Given the description of an element on the screen output the (x, y) to click on. 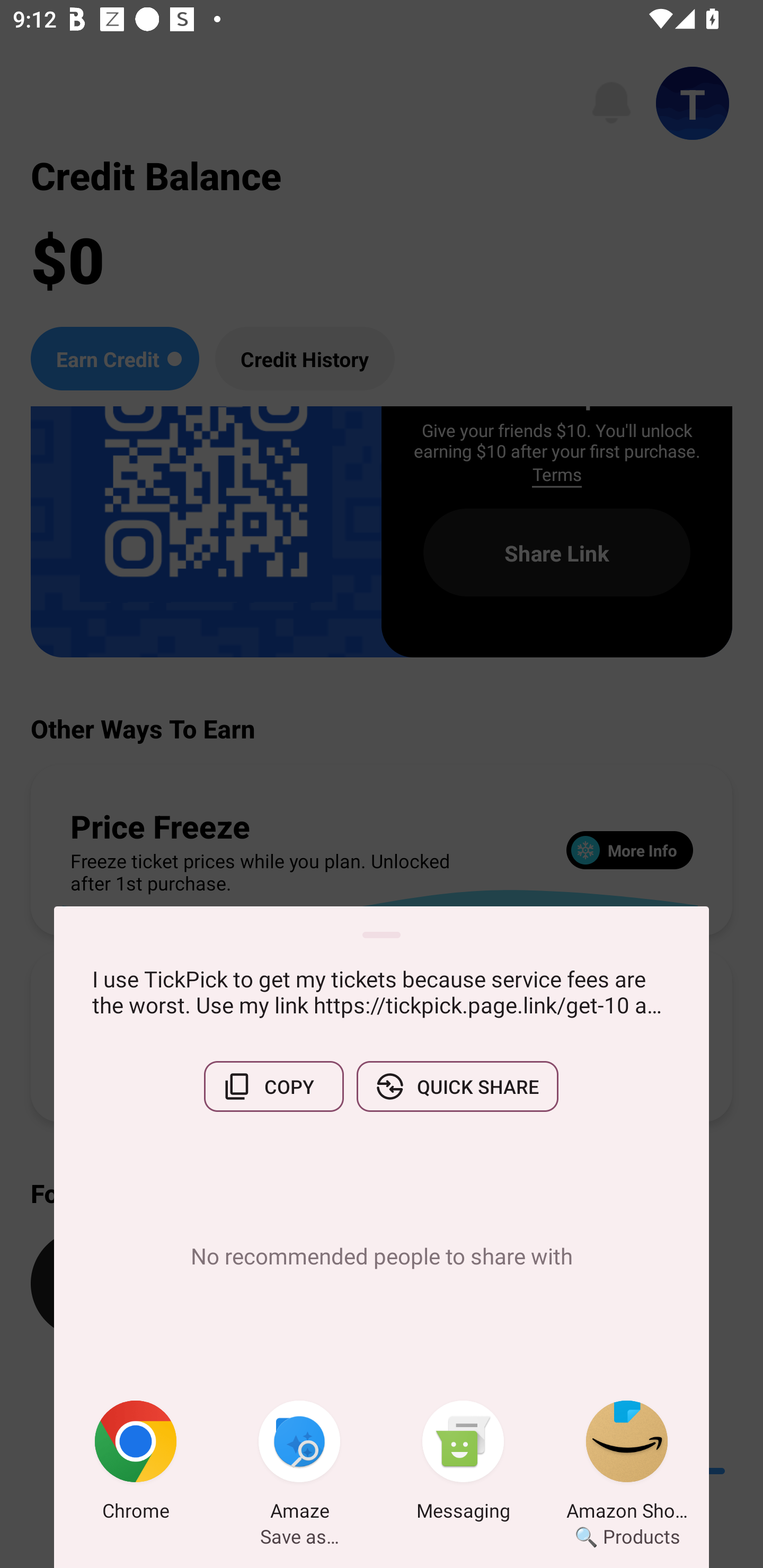
COPY (273, 1086)
QUICK SHARE (457, 1086)
Chrome (135, 1463)
Amaze Save as… (299, 1463)
Messaging (463, 1463)
Amazon Shopping 🔍 Products (626, 1463)
